Given the description of an element on the screen output the (x, y) to click on. 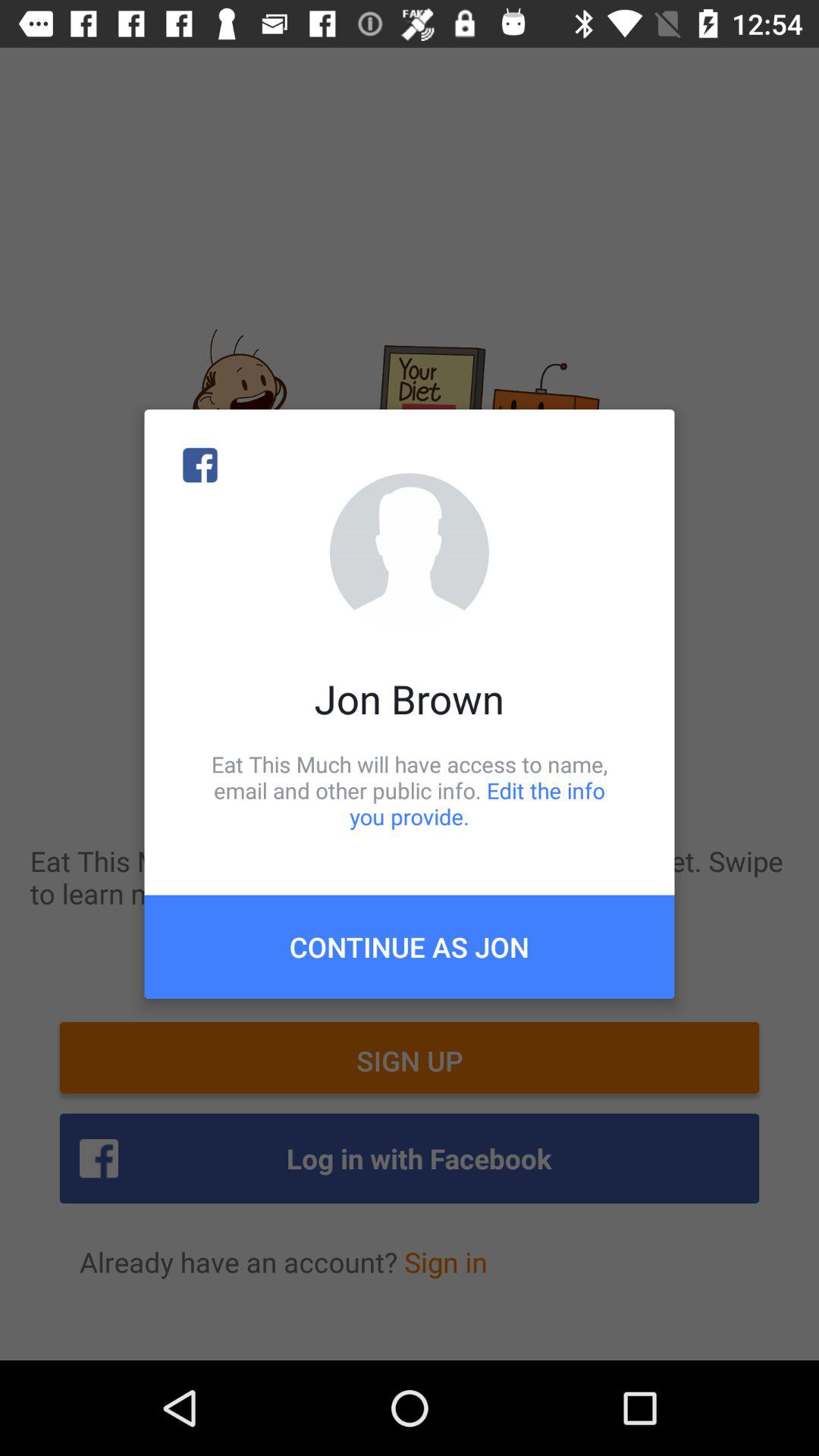
choose the item below the eat this much item (409, 946)
